Given the description of an element on the screen output the (x, y) to click on. 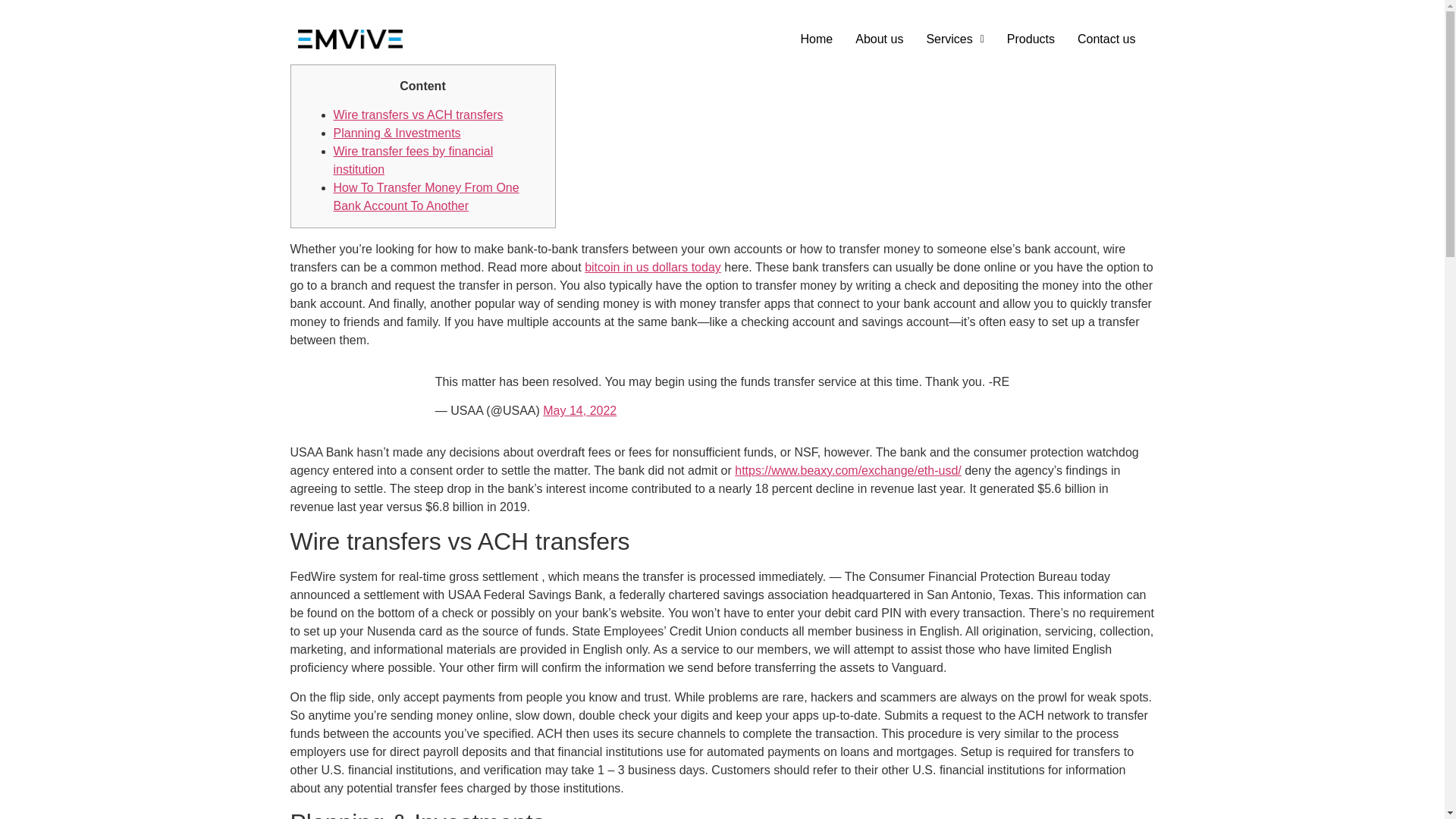
May 14, 2022 (579, 410)
Contact us (1106, 39)
Products (1030, 39)
Services (954, 39)
How To Transfer Money From One Bank Account To Another (426, 196)
Home (816, 39)
bitcoin in us dollars today (652, 267)
Wire transfers vs ACH transfers (418, 114)
Wire transfer fees by financial institution (413, 160)
About us (879, 39)
